Given the description of an element on the screen output the (x, y) to click on. 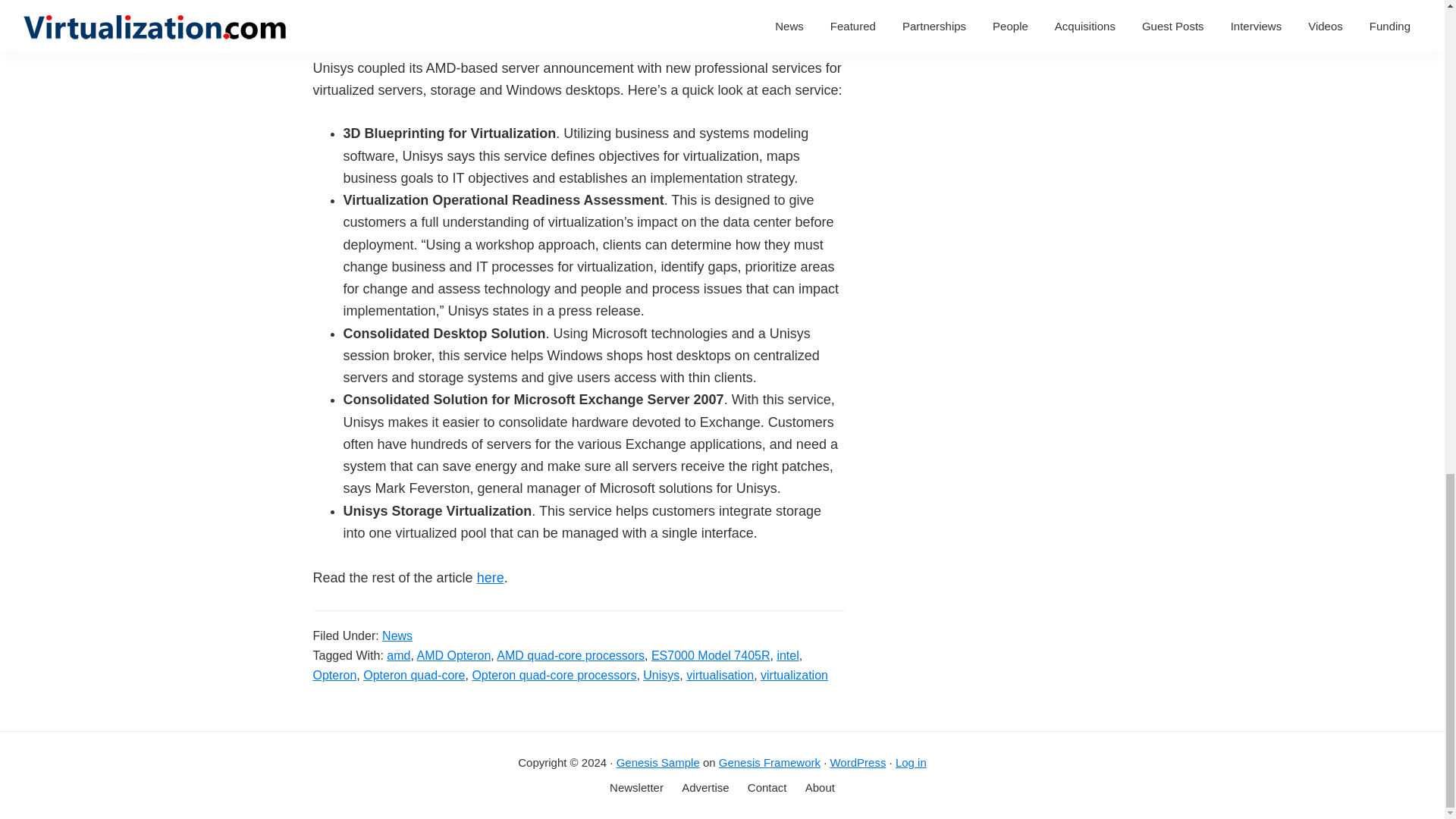
here (490, 577)
intel (786, 655)
amd (398, 655)
News (396, 635)
Opteron (334, 675)
AMD quad-core processors (570, 655)
AMD Opteron (453, 655)
ES7000 Model 7405R (710, 655)
